Given the description of an element on the screen output the (x, y) to click on. 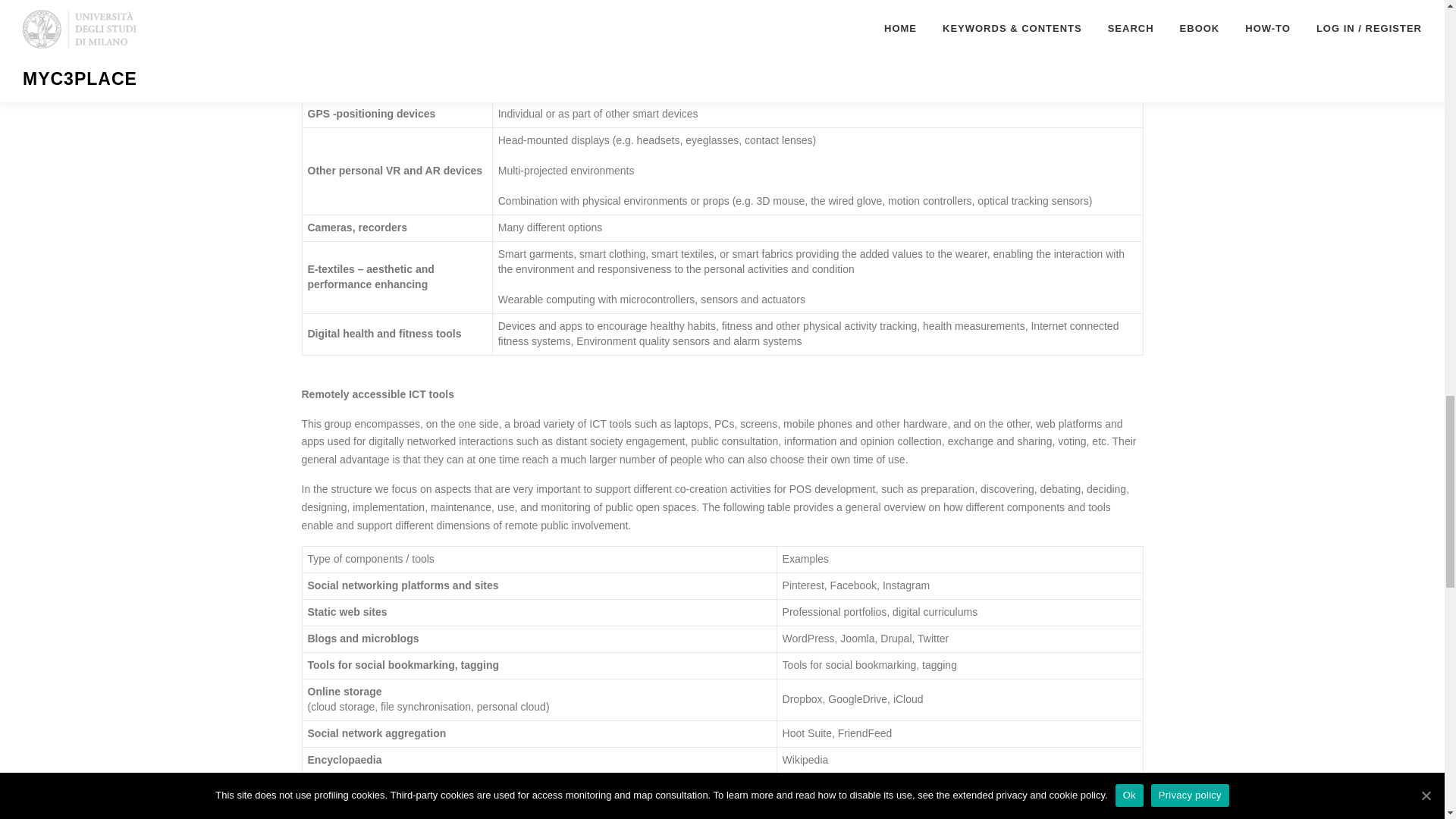
Survey (323, 786)
